Given the description of an element on the screen output the (x, y) to click on. 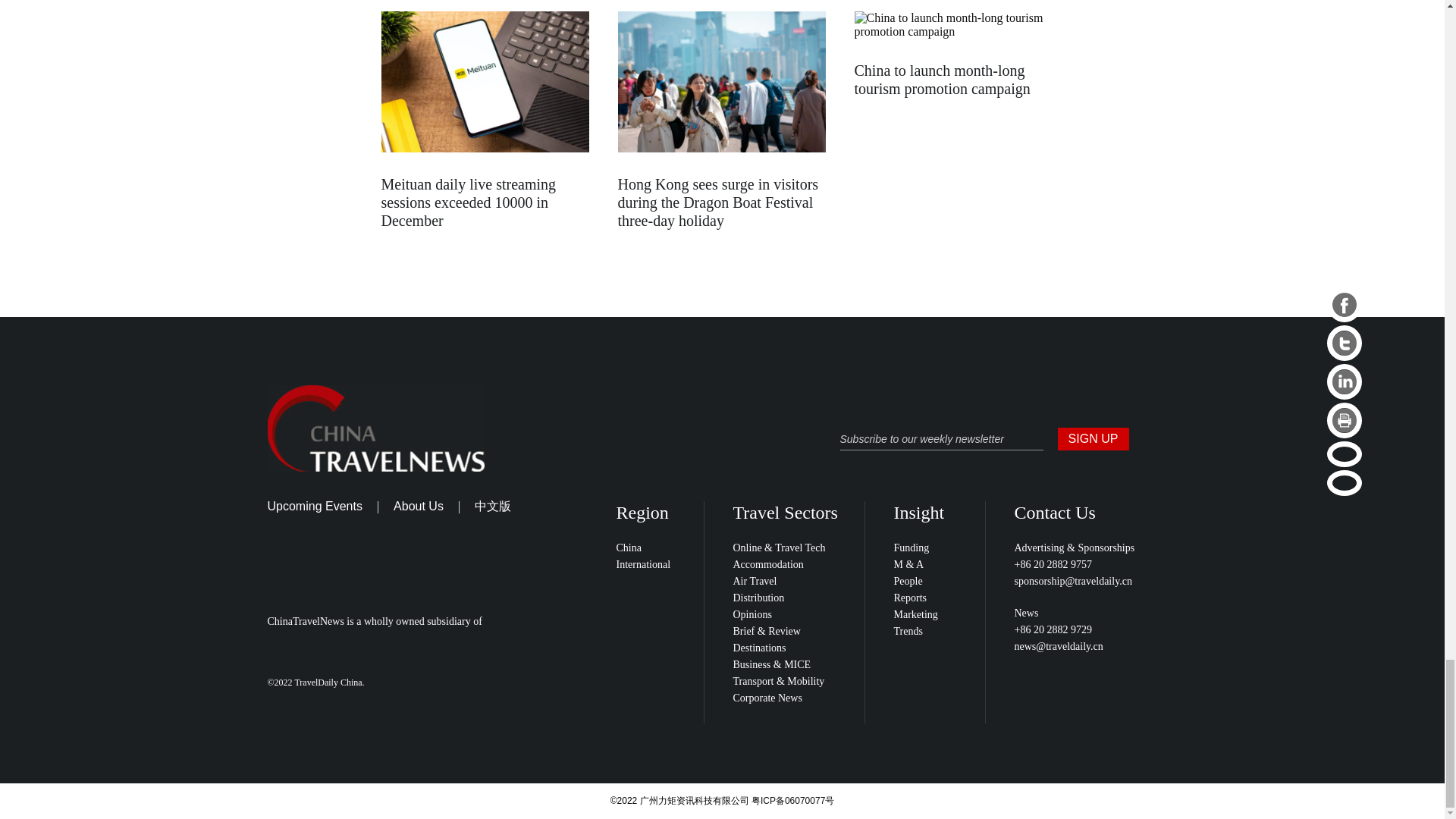
SIGN UP (1092, 438)
Upcoming Events (313, 505)
China to launch month-long tourism promotion campaign (941, 79)
